Given the description of an element on the screen output the (x, y) to click on. 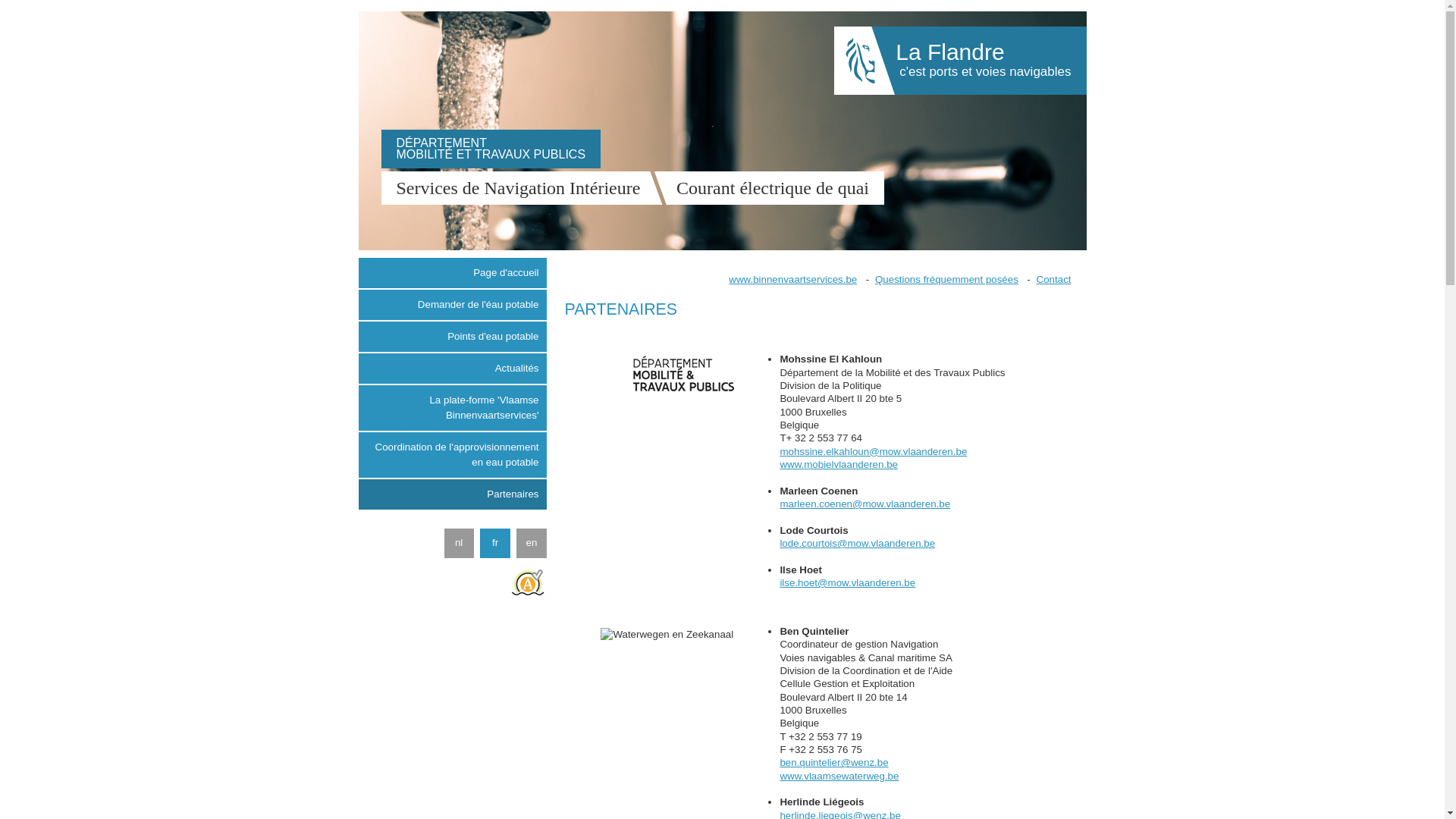
www.mobielvlaanderen.be Element type: text (838, 464)
Partenaires Element type: text (451, 494)
Contact Element type: text (1053, 279)
Page d'accueil Element type: text (451, 272)
Coordination de l'approvisionnement en eau potable Element type: text (451, 454)
ben.quintelier@wenz.be Element type: text (833, 762)
ilse.hoet@mow.vlaanderen.be Element type: text (847, 582)
fr Element type: text (494, 543)
Points d'eau potable Element type: text (451, 336)
mohssine.elkahloun@mow.vlaanderen.be Element type: text (872, 451)
nl Element type: text (458, 543)
La plate-forme 'Vlaamse Binnenvaartservices' Element type: text (451, 407)
lode.courtois@mow.vlaanderen.be Element type: text (857, 543)
www.binnenvaartservices.be Element type: text (792, 279)
en Element type: text (531, 543)
www.vlaamsewaterweg.be Element type: text (838, 775)
marleen.coenen@mow.vlaanderen.be Element type: text (864, 503)
